Given the description of an element on the screen output the (x, y) to click on. 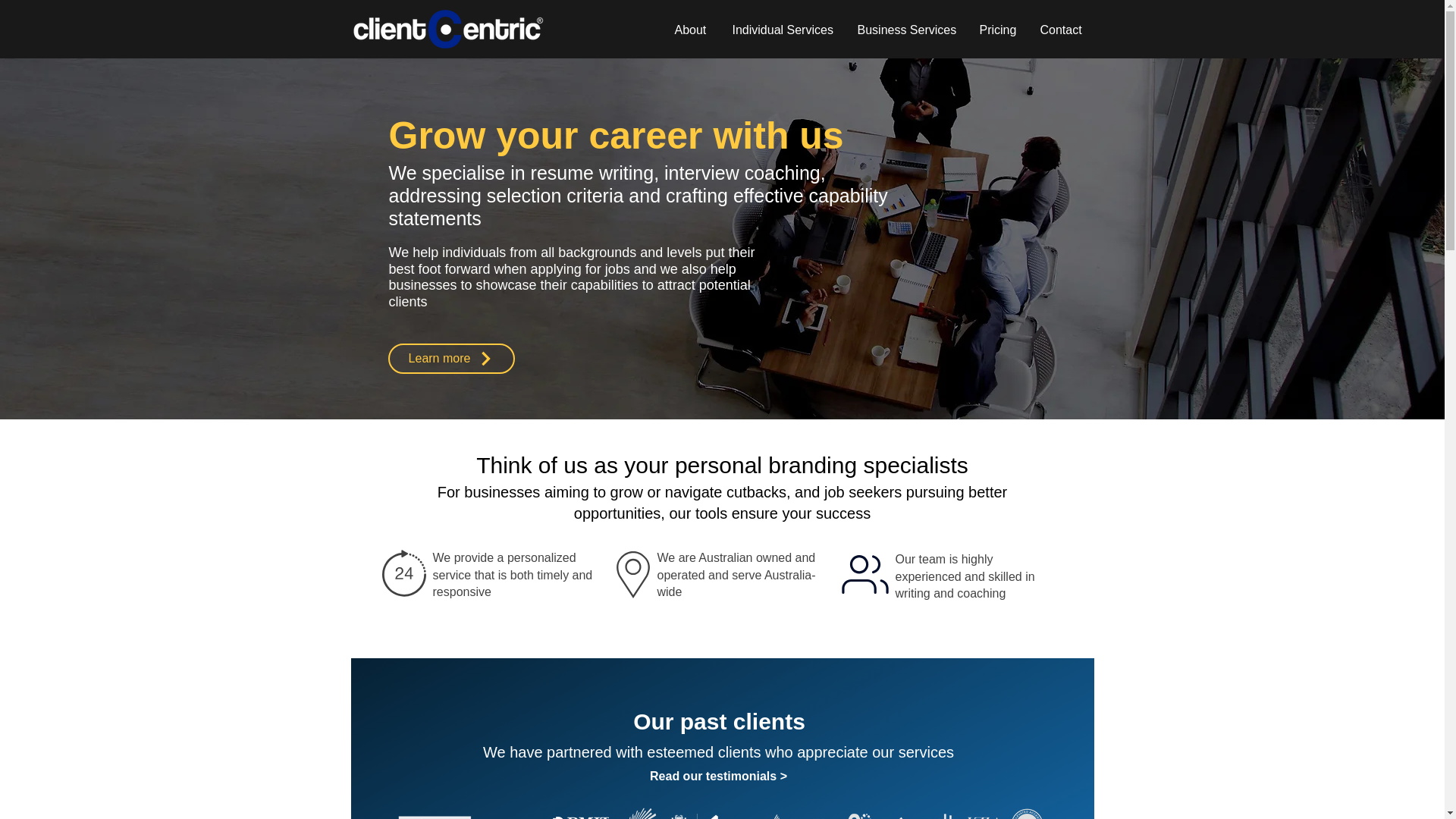
Contact (1062, 29)
Learn more (451, 358)
